Given the description of an element on the screen output the (x, y) to click on. 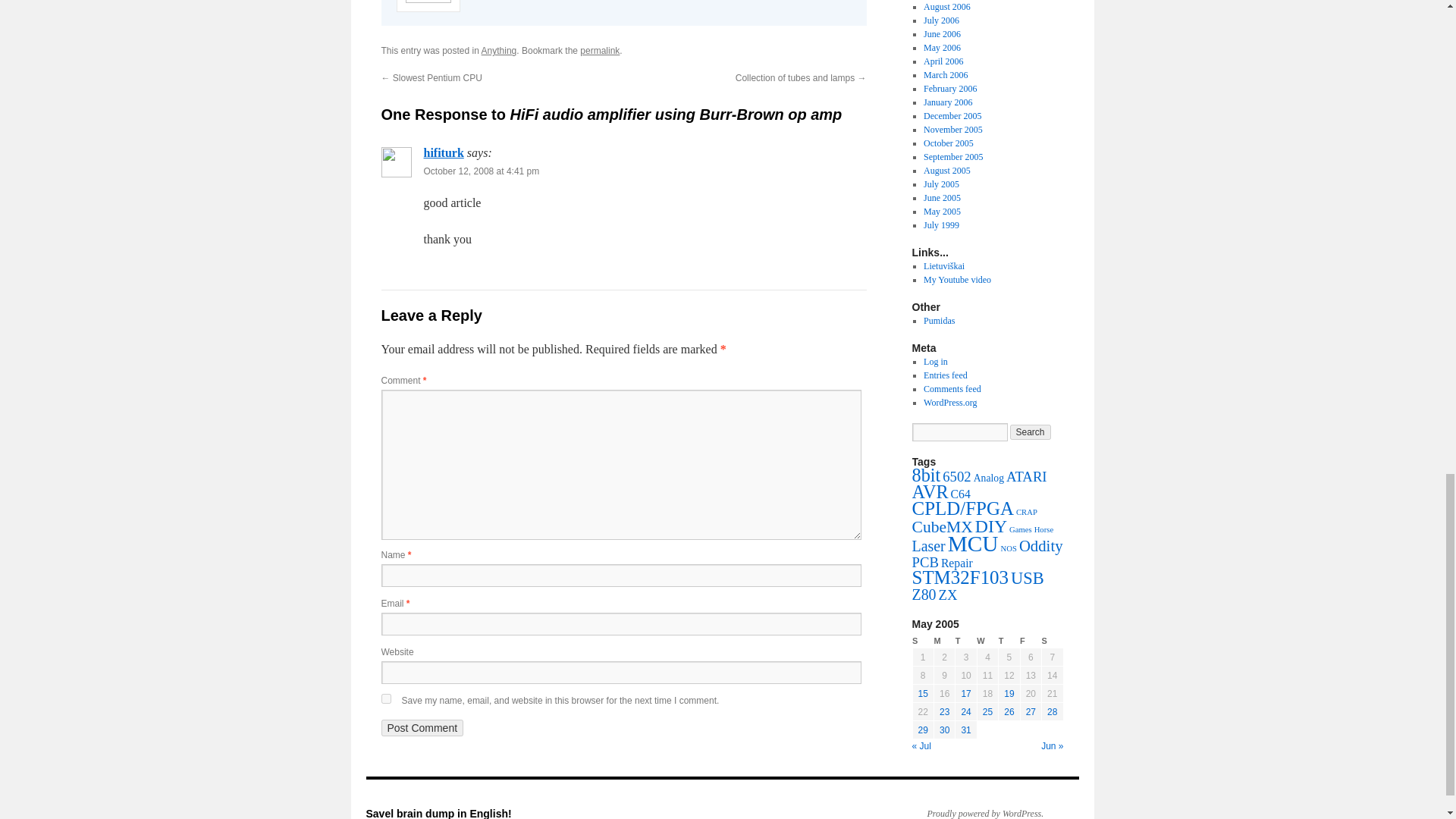
All my video (957, 279)
Tuesday (965, 640)
Search (1030, 432)
yes (385, 698)
Sunday (922, 640)
permalink (599, 50)
Saturday (1052, 640)
hifiturk (443, 152)
Wednesday (986, 640)
Anything (498, 50)
Permalink to HiFi audio amplifier using Burr-Brown op amp (599, 50)
October 12, 2008 at 4:41 pm (480, 171)
Monday (944, 640)
Thursday (1009, 640)
Post Comment (421, 727)
